Given the description of an element on the screen output the (x, y) to click on. 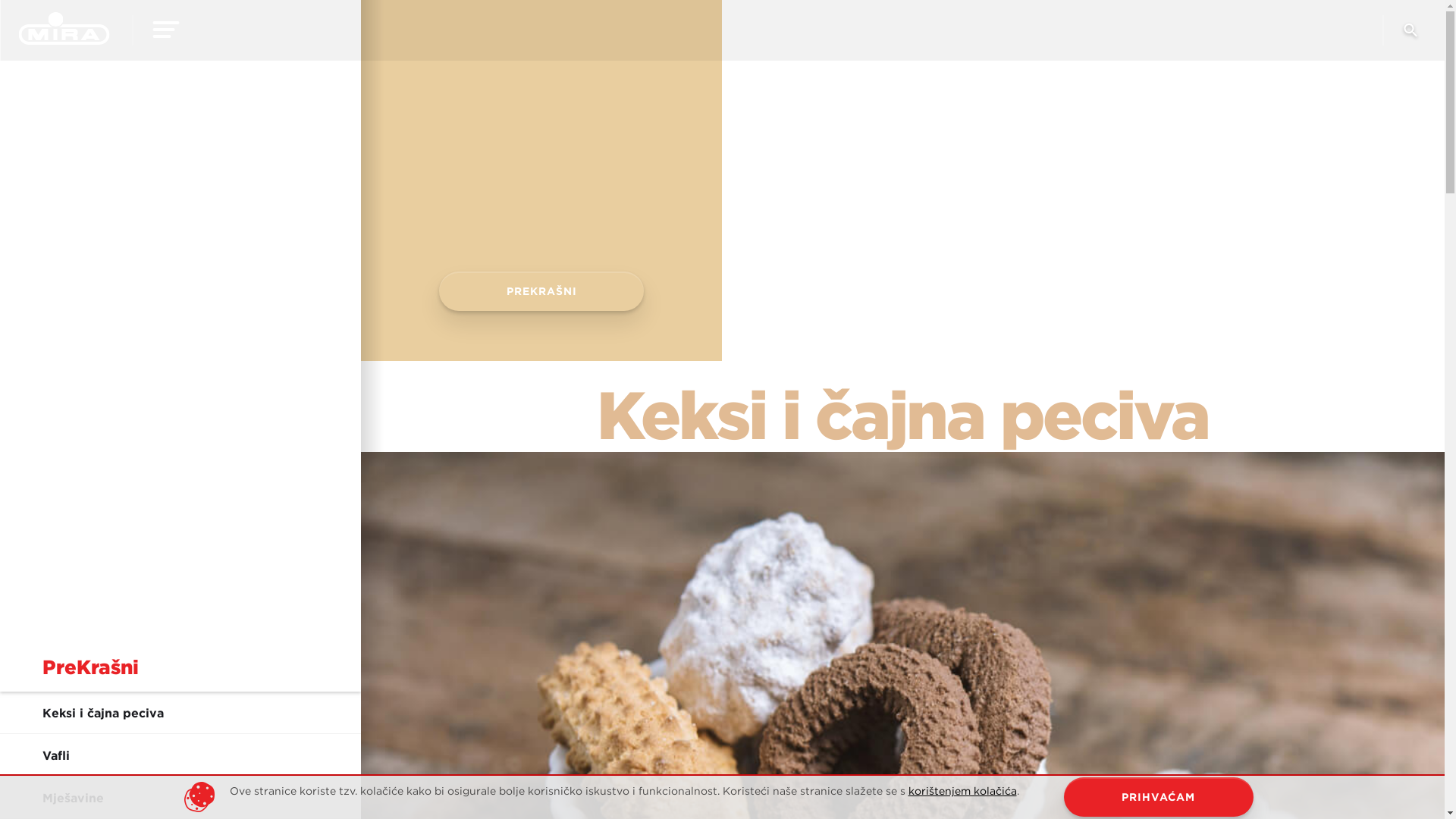
Search Element type: text (1410, 35)
Vafli Element type: text (180, 755)
